Given the description of an element on the screen output the (x, y) to click on. 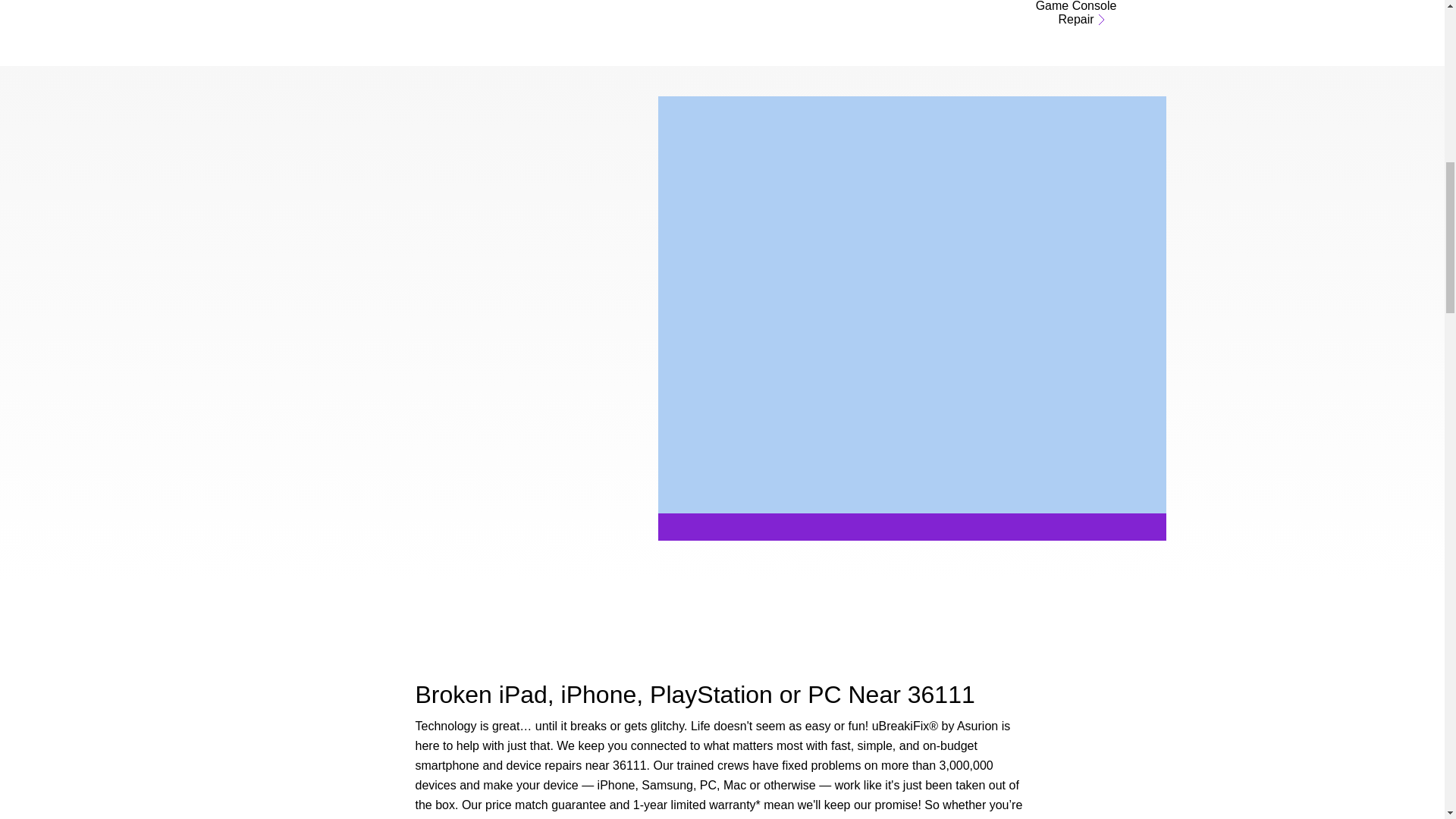
Computer Repair (921, 18)
Samsung Repair (496, 18)
Game Console Repair (1076, 18)
iPhone Repair (354, 18)
Tablet Repair (780, 18)
Google Repair (638, 18)
